Given the description of an element on the screen output the (x, y) to click on. 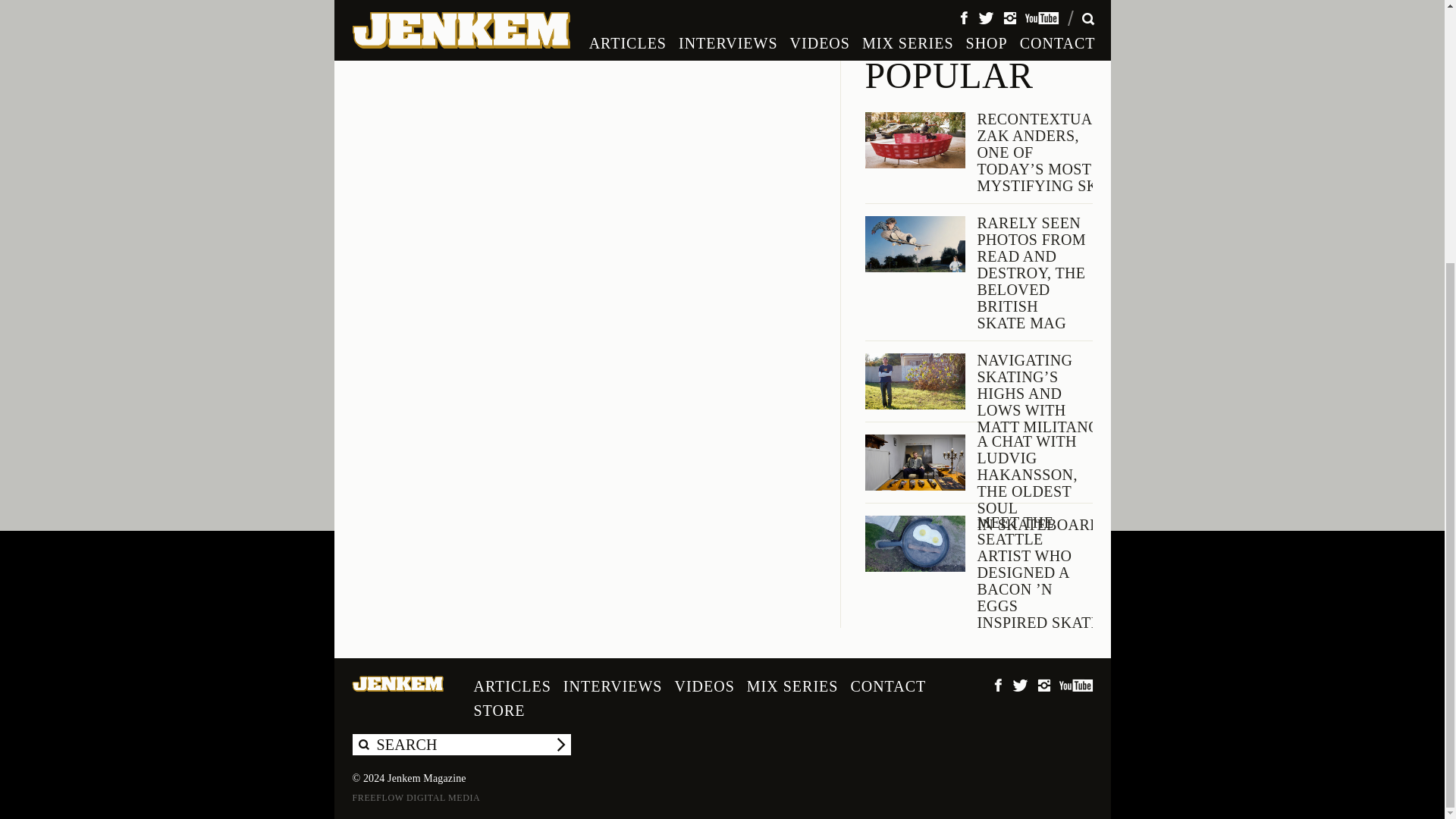
COMMENTS: 94 (739, 2)
JUNE 19, 2012 (582, 2)
Search (559, 744)
View all posts in ARTICLES (692, 2)
Jenkem Magazine (397, 683)
Posts by Eric Q (641, 2)
Search (559, 744)
ERIC Q (641, 2)
3rd party ad content (978, 18)
ARTICLES (692, 2)
